Given the description of an element on the screen output the (x, y) to click on. 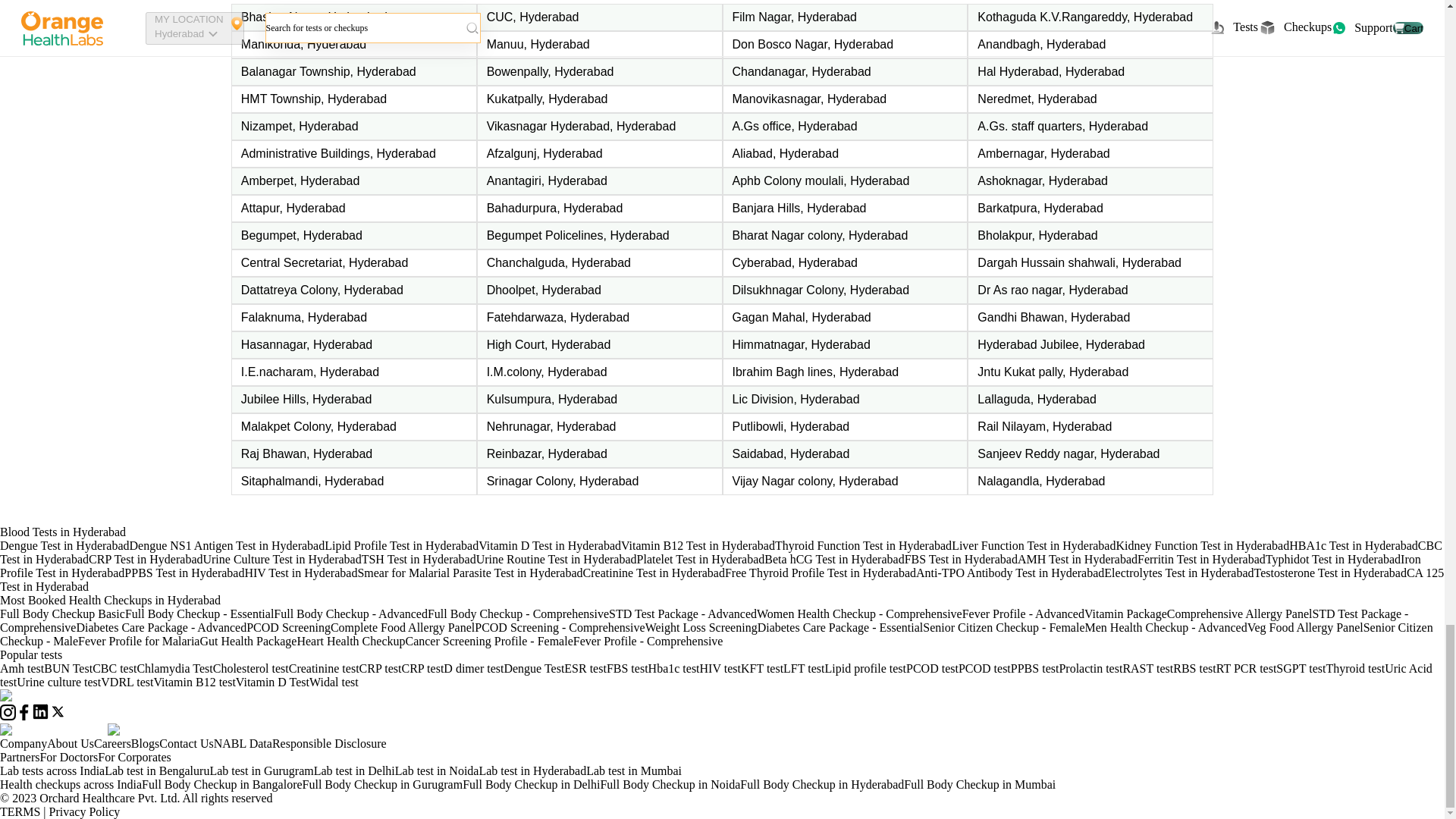
Thyroid Function Test in Hyderabad (863, 545)
CBC Test in Hyderabad (721, 551)
Dengue Test in Hyderabad (64, 545)
Dengue NS1 Antigen Test in Hyderabad (226, 545)
Lipid Profile Test in Hyderabad (401, 545)
HBA1c Test in Hyderabad (1353, 545)
Liver Function Test in Hyderabad (1033, 545)
CRP Test in Hyderabad (145, 558)
Vitamin B12 Test in Hyderabad (697, 545)
Vitamin D Test in Hyderabad (550, 545)
